Given the description of an element on the screen output the (x, y) to click on. 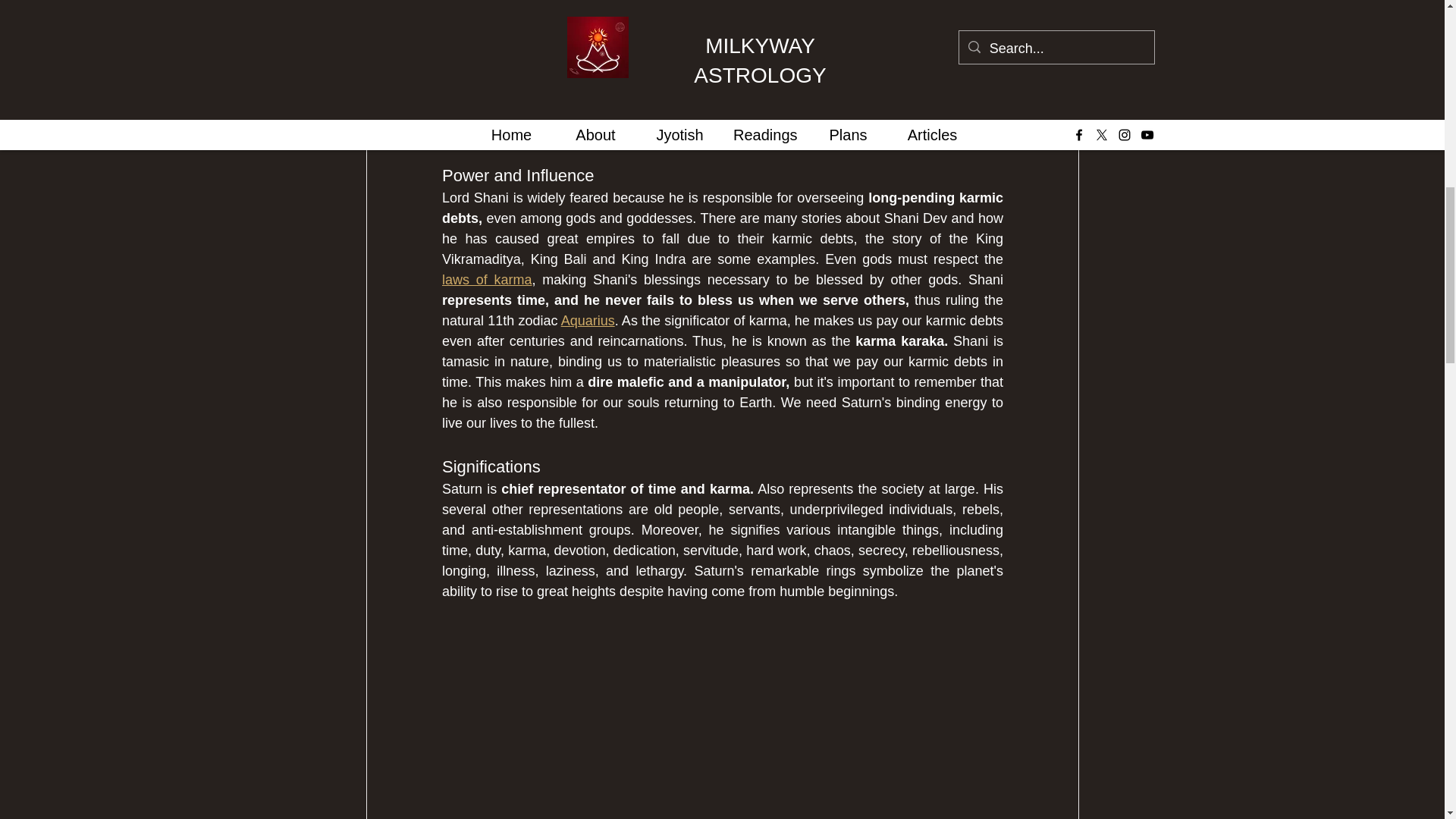
laws of karma (486, 279)
Aquarius (587, 320)
